Given the description of an element on the screen output the (x, y) to click on. 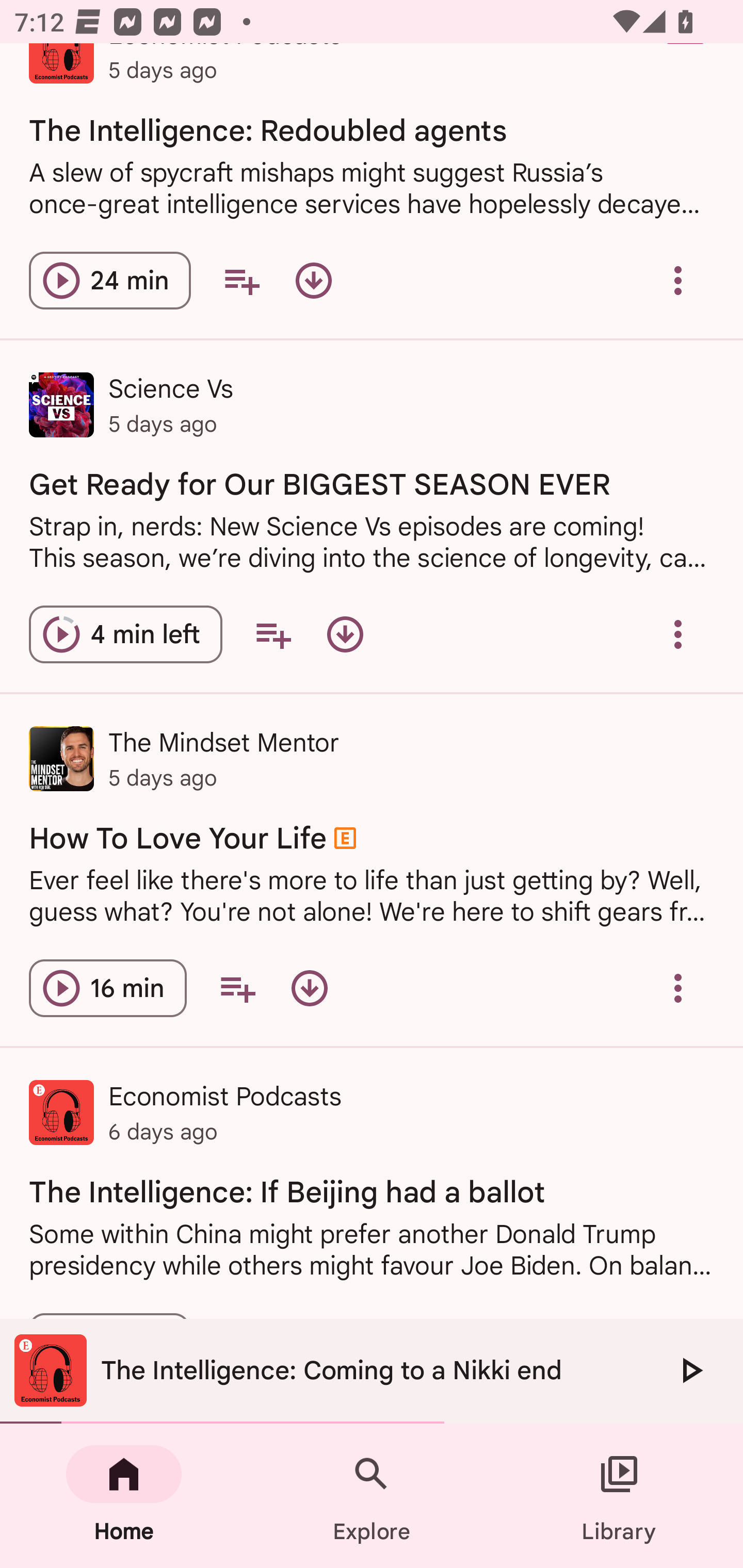
Add to your queue (241, 280)
Download episode (313, 280)
Overflow menu (677, 280)
Add to your queue (273, 634)
Download episode (345, 634)
Overflow menu (677, 634)
Play episode How To Love Your Life 16 min (107, 988)
Add to your queue (237, 988)
Download episode (309, 988)
Overflow menu (677, 988)
Play (690, 1370)
Explore (371, 1495)
Library (619, 1495)
